Given the description of an element on the screen output the (x, y) to click on. 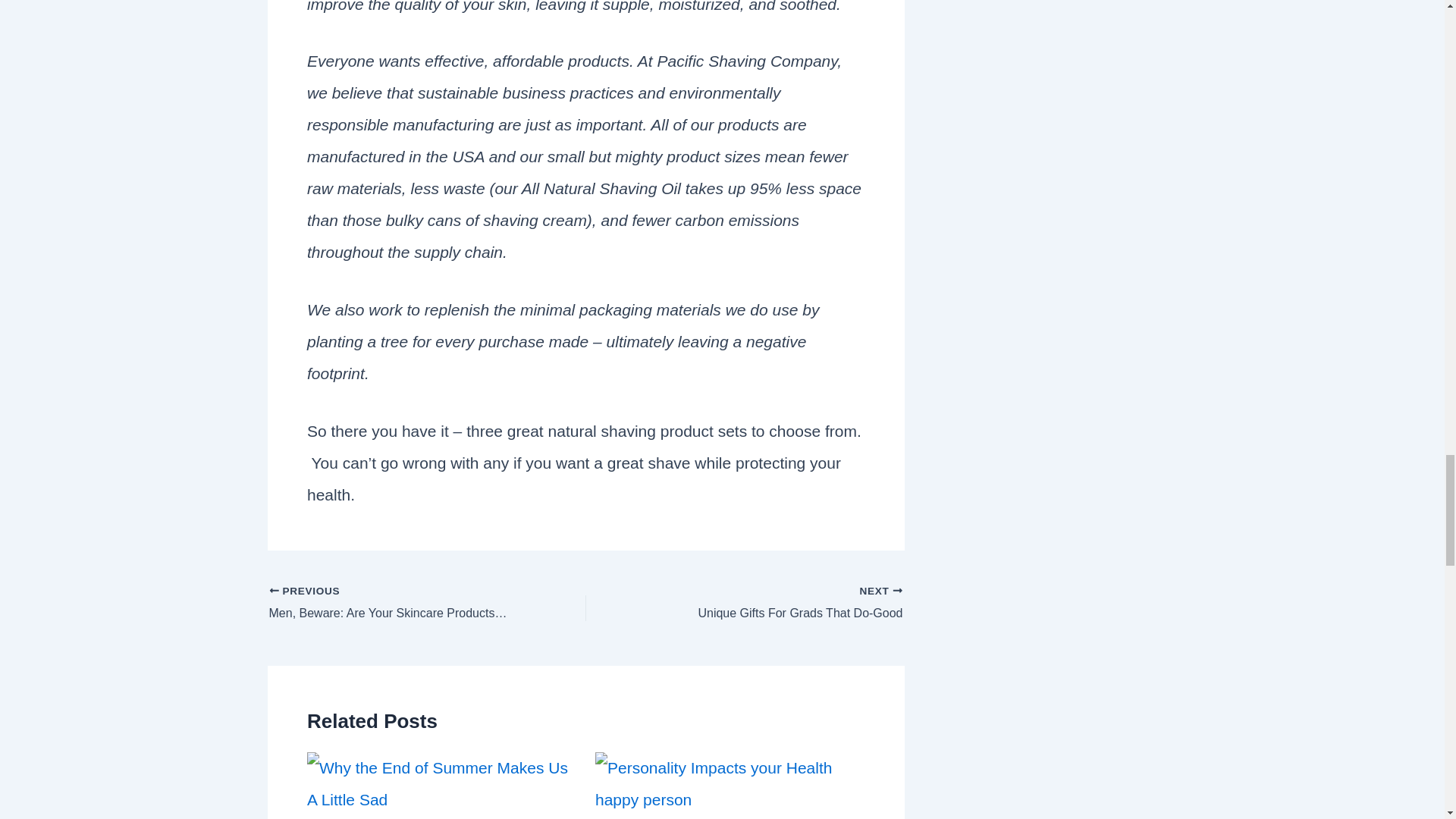
Unique Gifts For Grads That Do-Good (774, 603)
Men, Beware: Are Your Skincare Products Making You Sick? (394, 603)
